Given the description of an element on the screen output the (x, y) to click on. 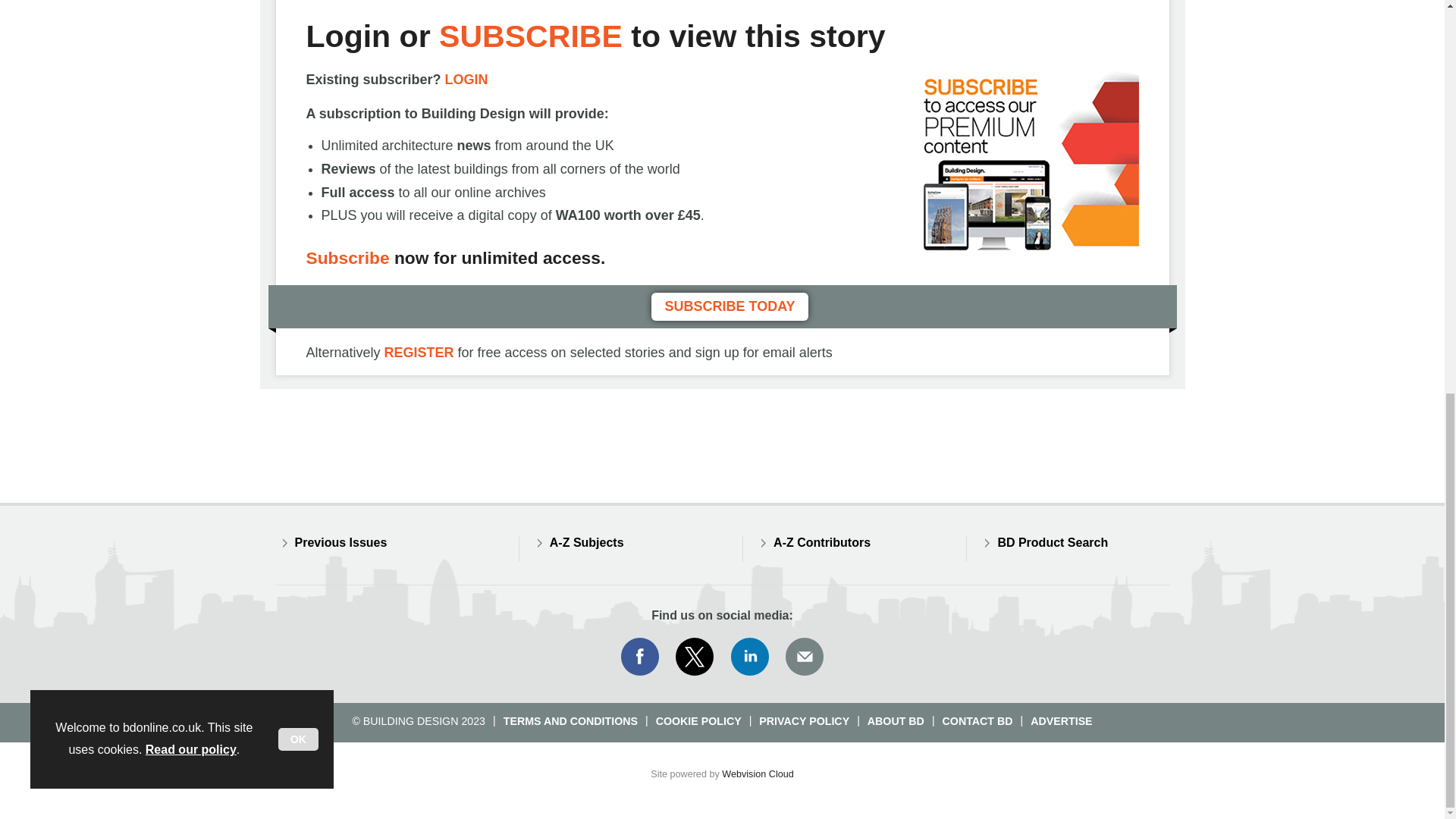
Connect with us on Linked in (750, 656)
Connect with us on Facebook (639, 656)
Email us (804, 656)
Connect with us on Twitter (694, 656)
